Given the description of an element on the screen output the (x, y) to click on. 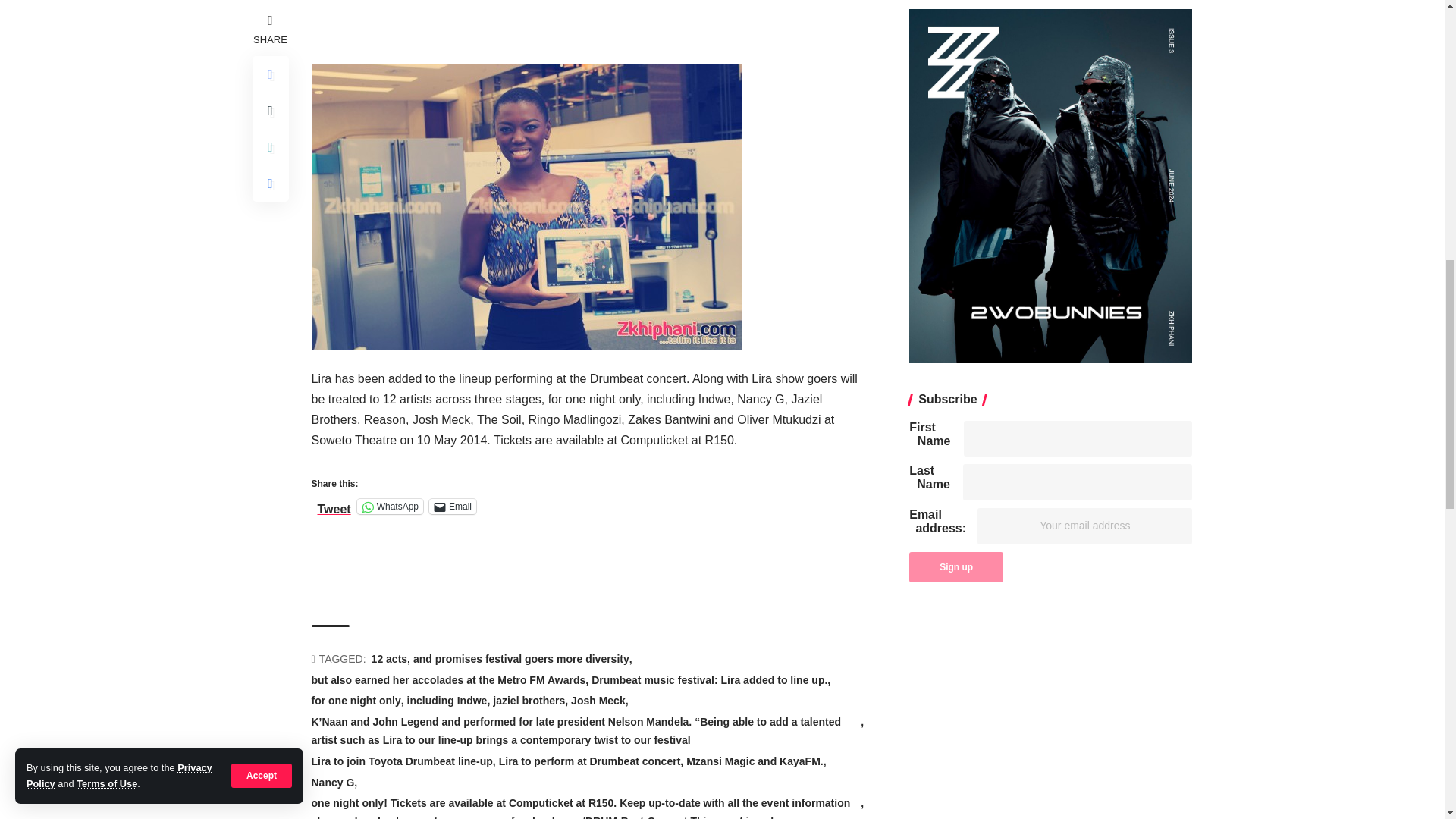
Click to email a link to a friend (452, 506)
Click to share on WhatsApp (389, 506)
